Given the description of an element on the screen output the (x, y) to click on. 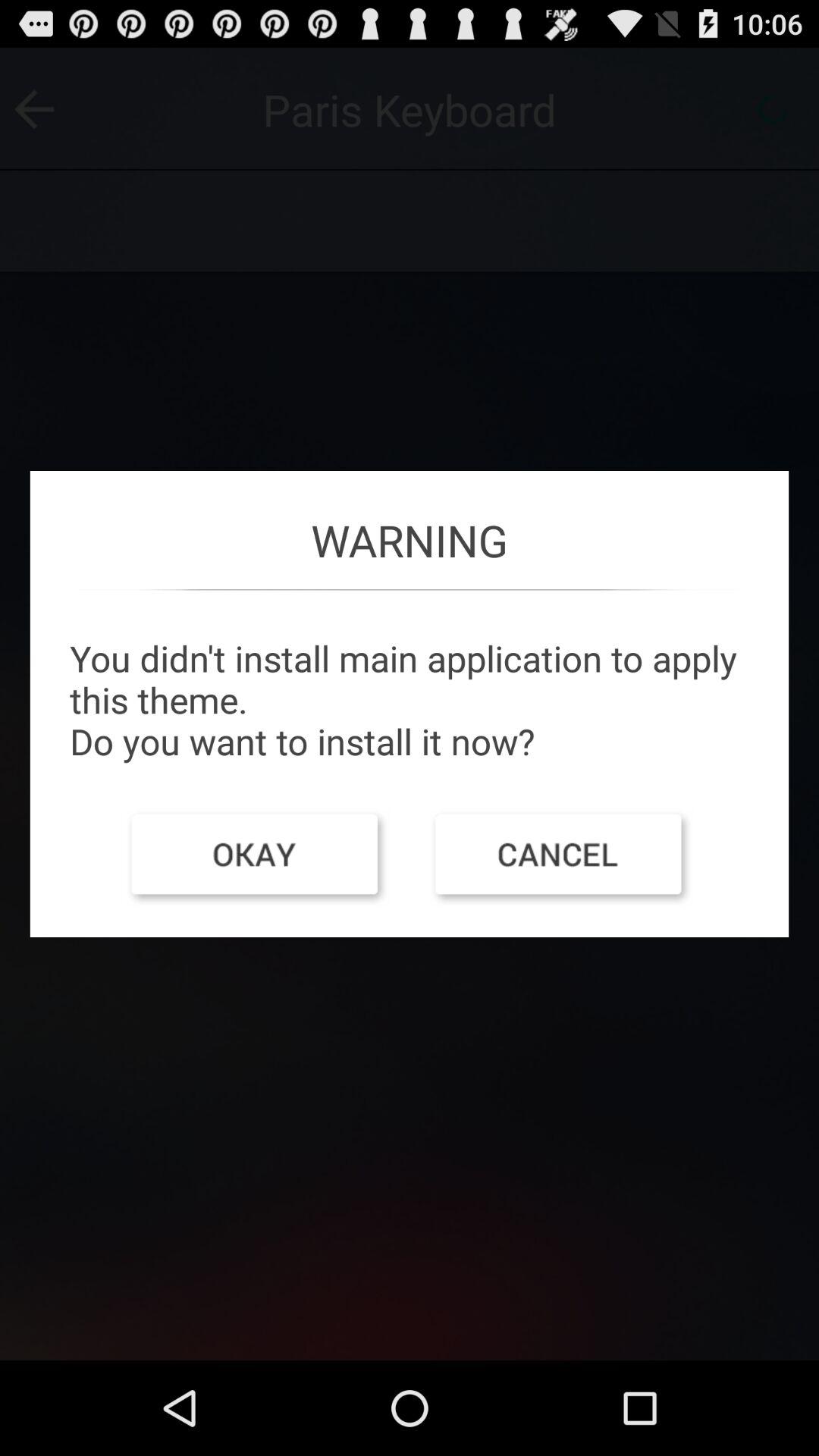
turn off icon below you didn t icon (257, 858)
